Given the description of an element on the screen output the (x, y) to click on. 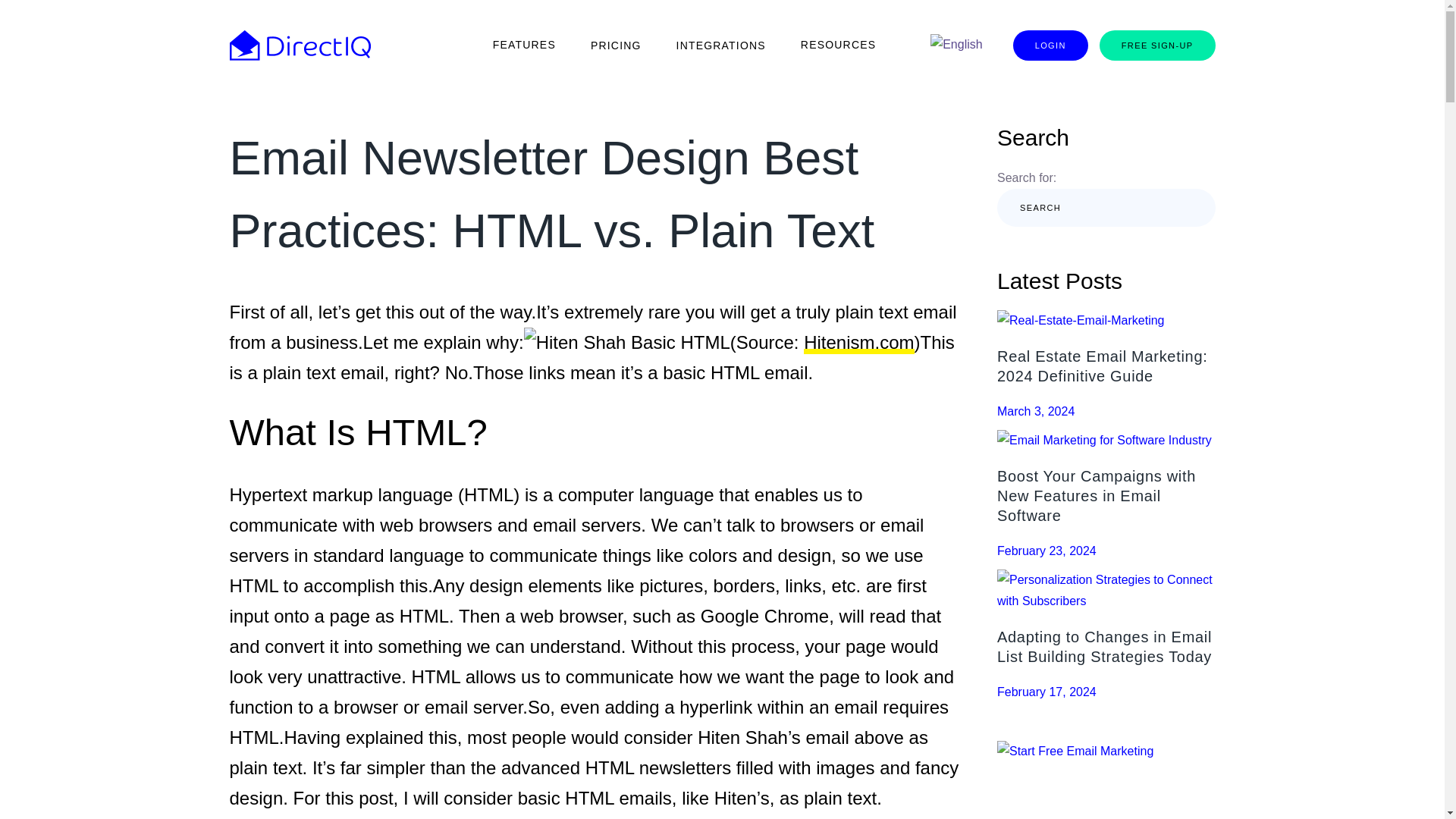
INTEGRATIONS (721, 45)
Search for: (1077, 207)
PRICING (616, 45)
FEATURES (524, 45)
RESOURCES (838, 45)
LOGIN (1050, 45)
FREE SIGN-UP (1157, 45)
